Given the description of an element on the screen output the (x, y) to click on. 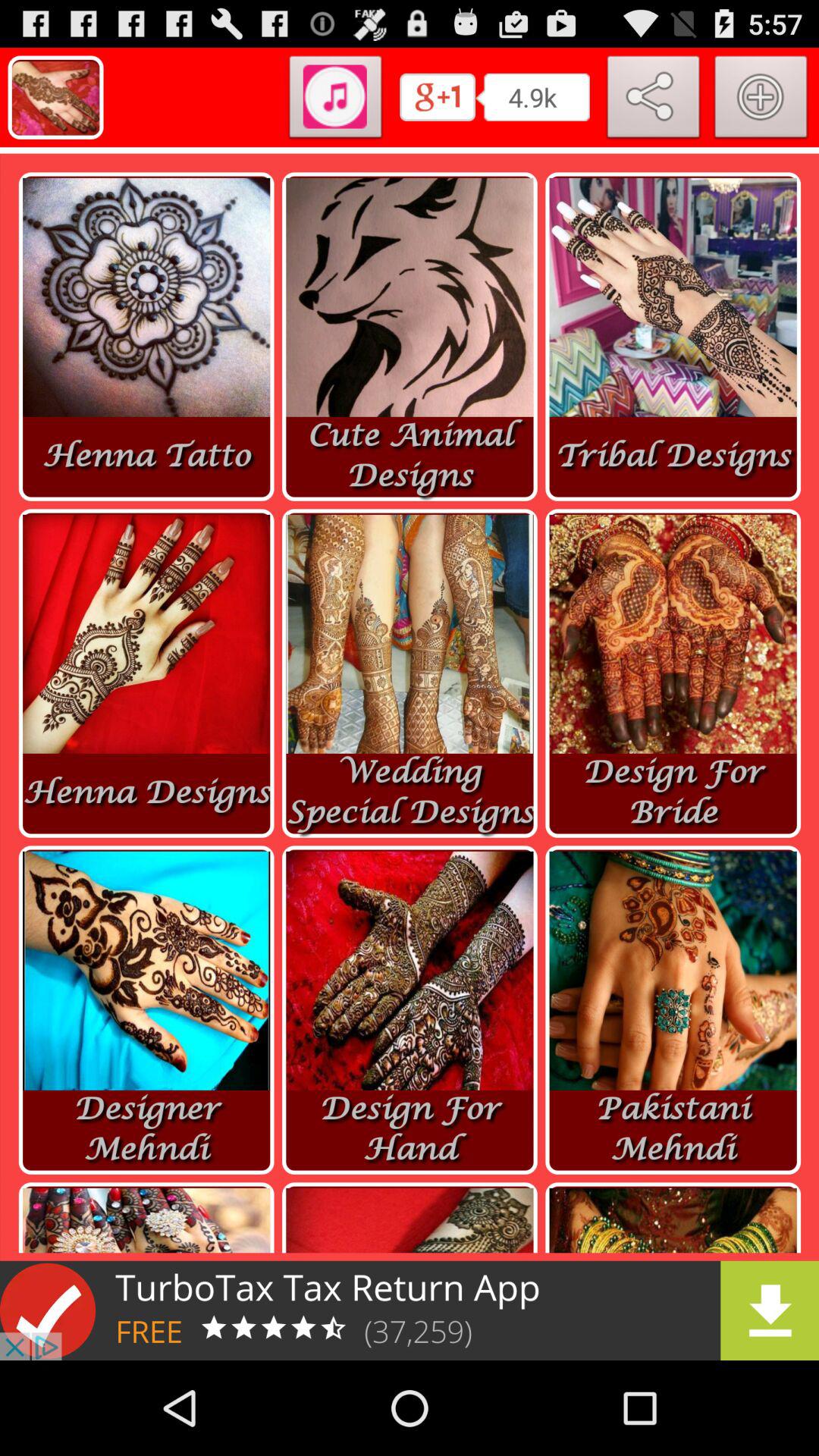
app advertisement (409, 1310)
